Given the description of an element on the screen output the (x, y) to click on. 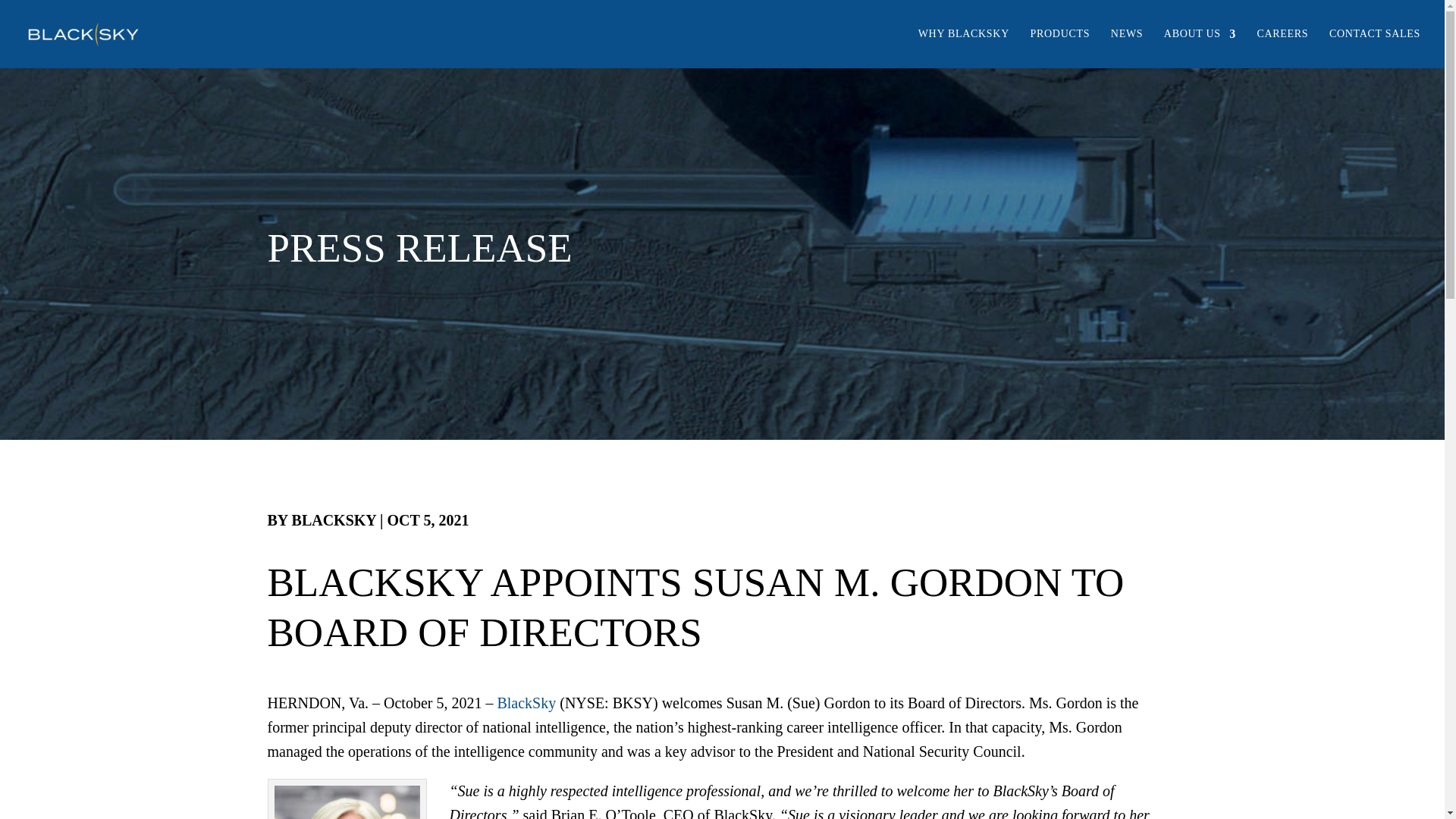
Careers (1281, 46)
WHY BLACKSKY (963, 46)
CONTACT SALES (1375, 46)
CAREERS (1281, 46)
Send (606, 516)
About Us (1199, 46)
PRODUCTS (1060, 46)
BlackSky (526, 702)
ABOUT US (1199, 46)
Posts by BlackSky (334, 519)
